Given the description of an element on the screen output the (x, y) to click on. 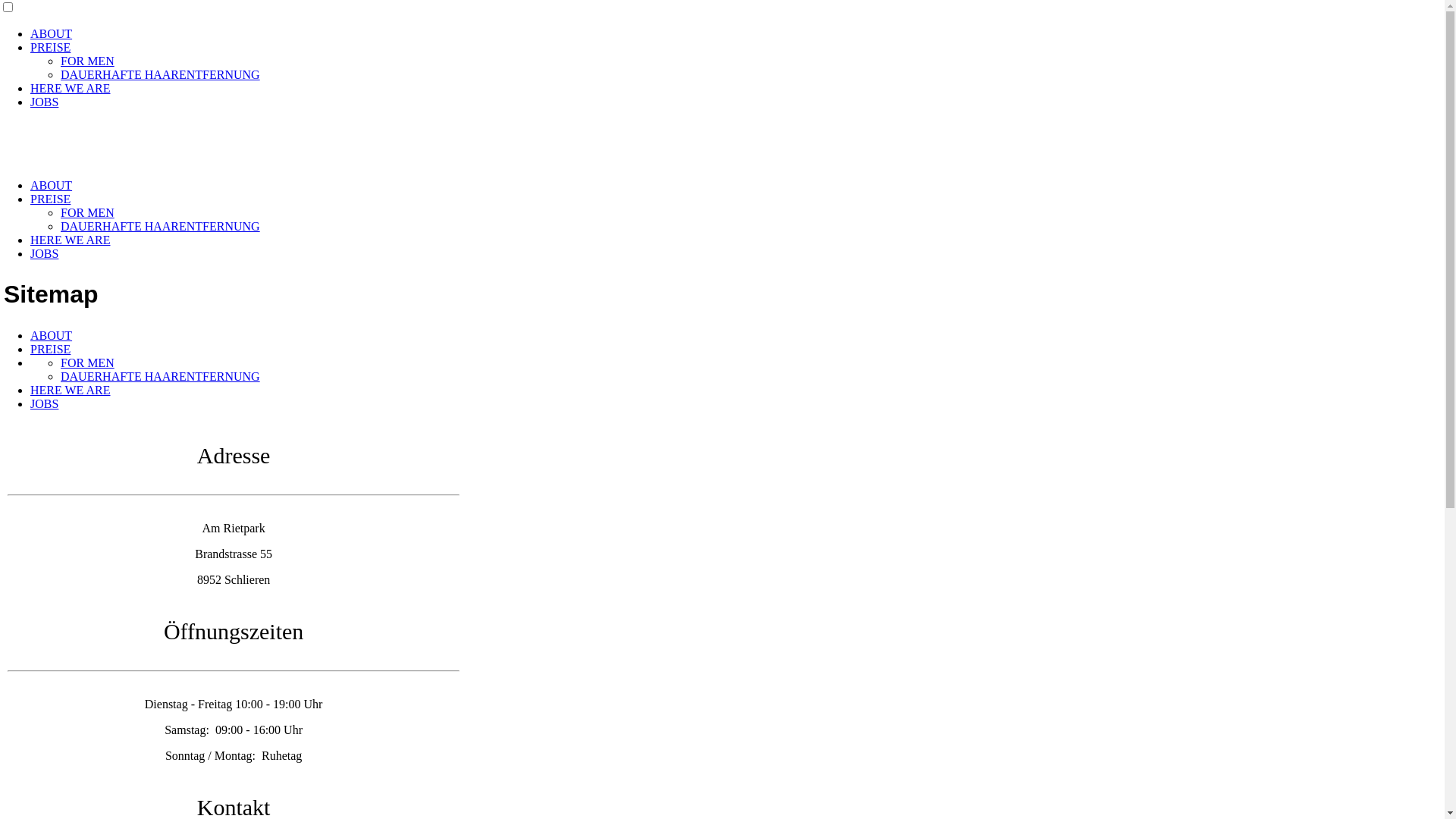
HERE WE ARE Element type: text (69, 87)
DAUERHAFTE HAARENTFERNUNG Element type: text (160, 74)
ABOUT Element type: text (51, 33)
JOBS Element type: text (44, 403)
FOR MEN Element type: text (87, 60)
HERE WE ARE Element type: text (69, 239)
DAUERHAFTE HAARENTFERNUNG Element type: text (160, 376)
PREISE Element type: text (50, 348)
JOBS Element type: text (44, 253)
DAUERHAFTE HAARENTFERNUNG Element type: text (160, 225)
ABOUT Element type: text (51, 184)
HERE WE ARE Element type: text (69, 389)
FOR MEN Element type: text (87, 362)
PREISE Element type: text (50, 198)
JOBS Element type: text (44, 101)
ABOUT Element type: text (51, 335)
PREISE Element type: text (50, 46)
FOR MEN Element type: text (87, 212)
